Given the description of an element on the screen output the (x, y) to click on. 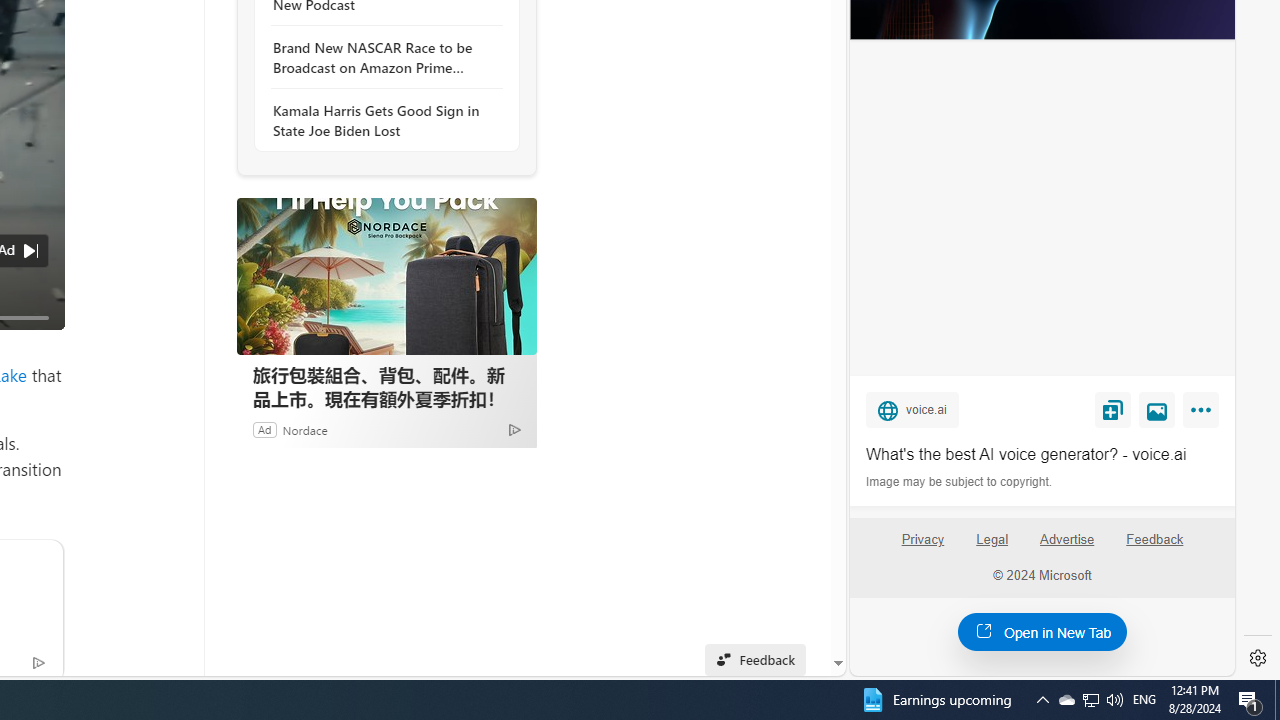
Advertise (1067, 547)
Ad (264, 429)
Open in New Tab (1042, 631)
Privacy (922, 547)
voice.ai (912, 409)
Feedback (1154, 547)
Brand New NASCAR Race to be Broadcast on Amazon Prime Video (381, 57)
What's the best AI voice generator? - voice.ai (1042, 454)
Feedback (1155, 539)
